Given the description of an element on the screen output the (x, y) to click on. 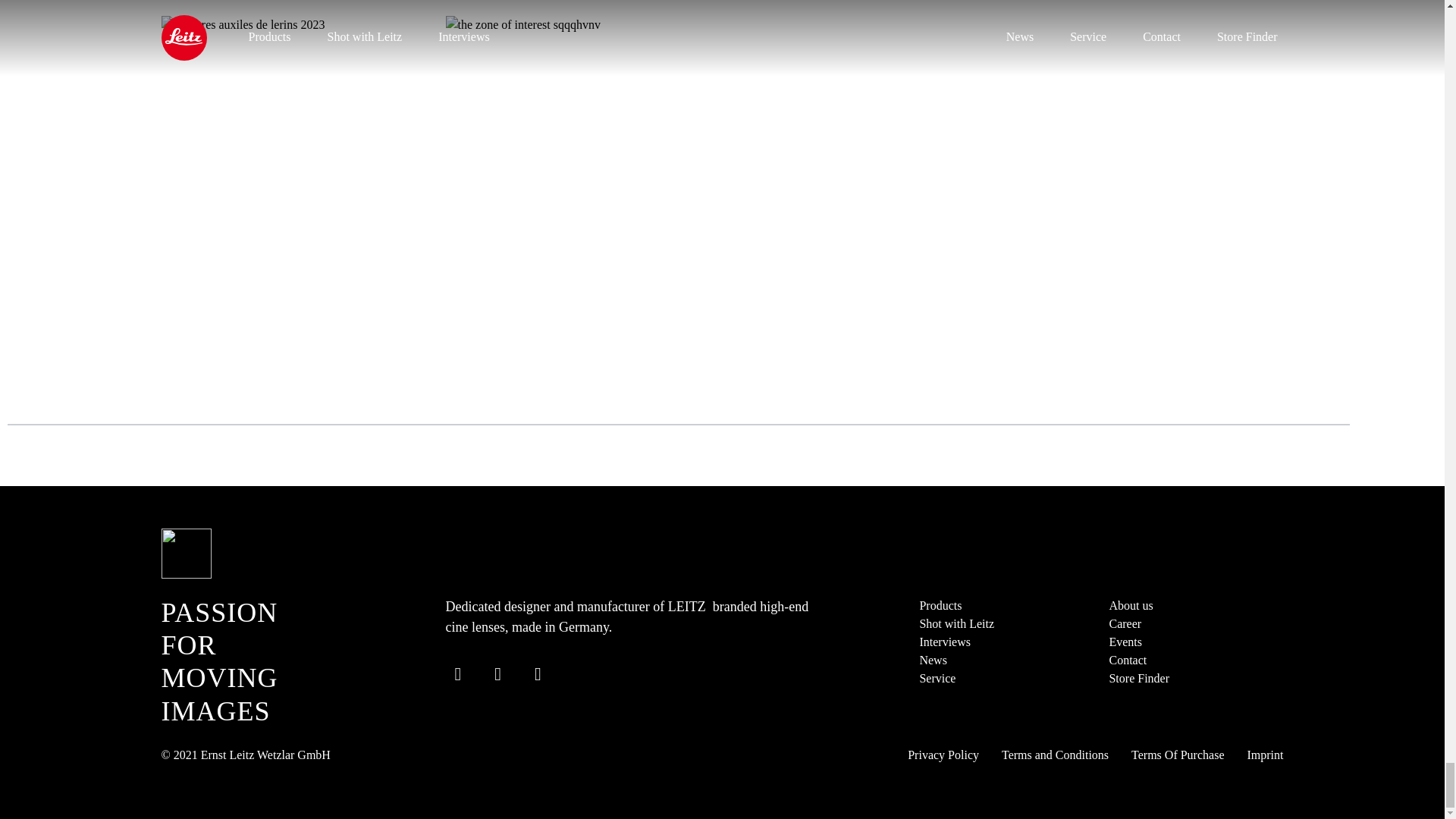
Service (936, 677)
Products (939, 604)
Store Finder (1138, 677)
Shot with Leitz (956, 623)
Terms Of Purchase (1177, 754)
Contact (1127, 659)
Imprint (1264, 754)
Interviews (944, 641)
About us (1130, 604)
Privacy Policy (942, 754)
Career (1124, 623)
News (932, 659)
Terms and Conditions (1054, 754)
Events (1124, 641)
